Given the description of an element on the screen output the (x, y) to click on. 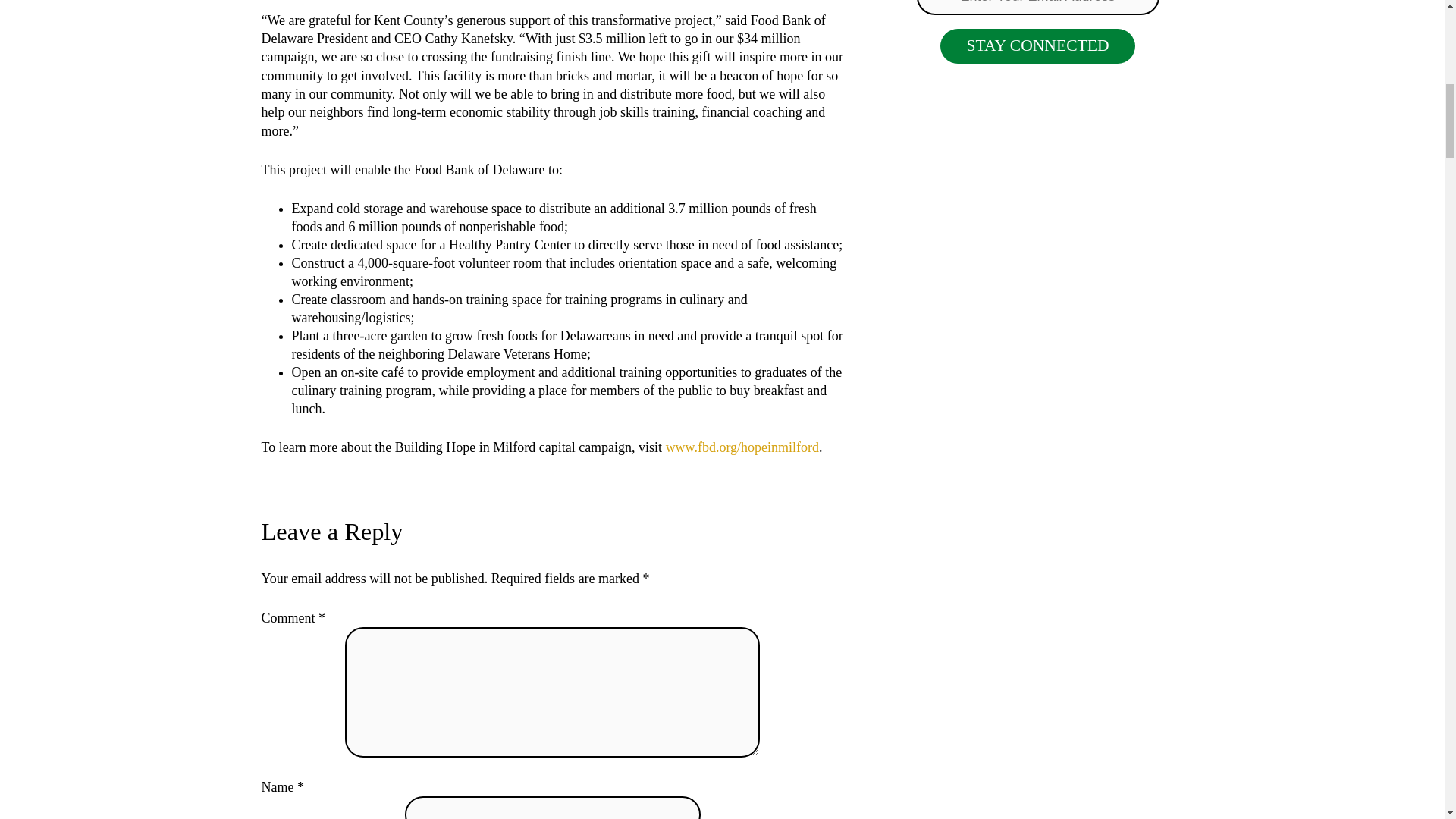
STAY CONNECTED (1037, 45)
